Given the description of an element on the screen output the (x, y) to click on. 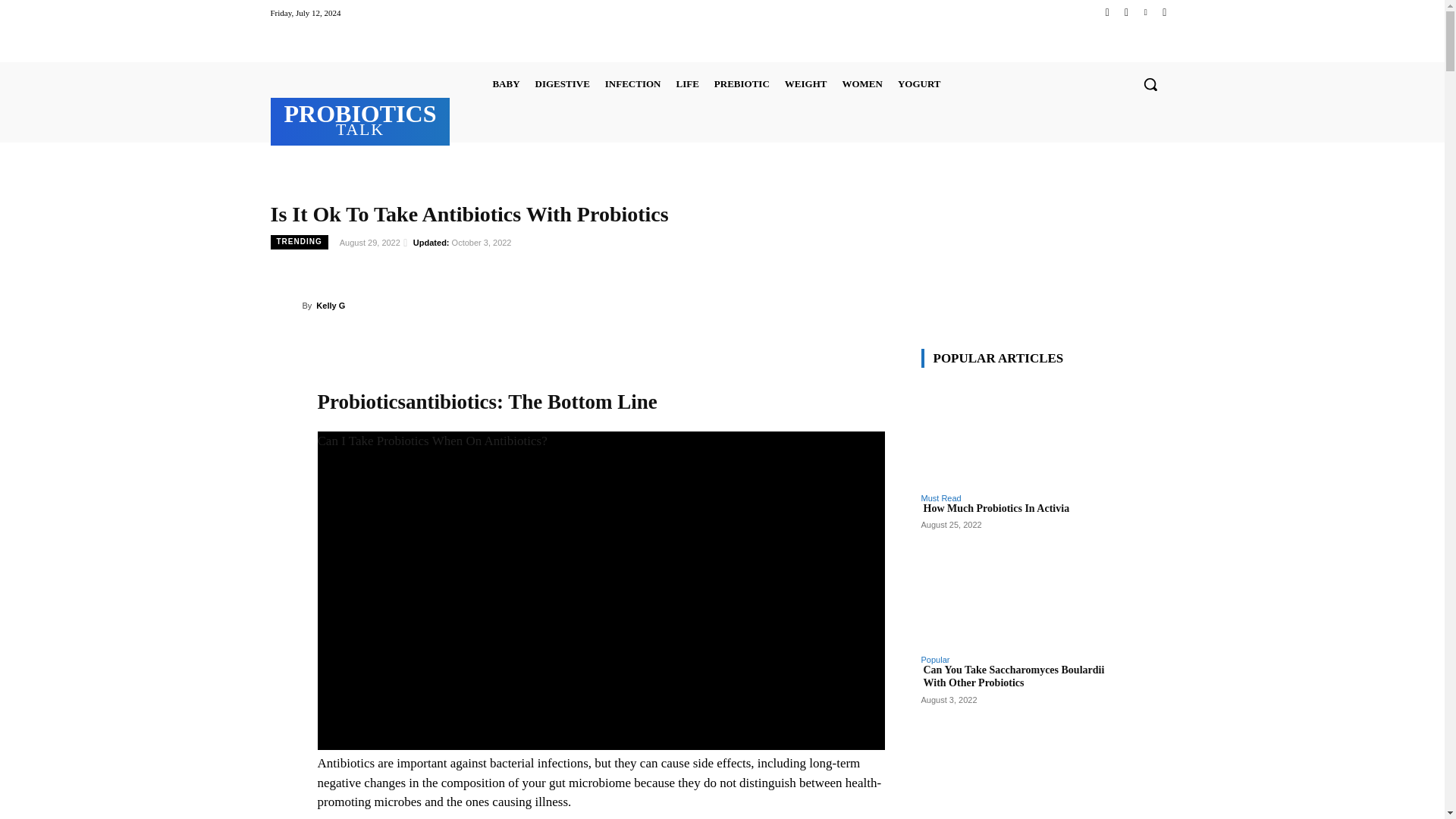
Youtube (1163, 12)
Instagram (1125, 12)
DIGESTIVE (562, 83)
Kelly G (285, 305)
Facebook (1106, 12)
Twitter (1144, 12)
BABY (505, 83)
